Given the description of an element on the screen output the (x, y) to click on. 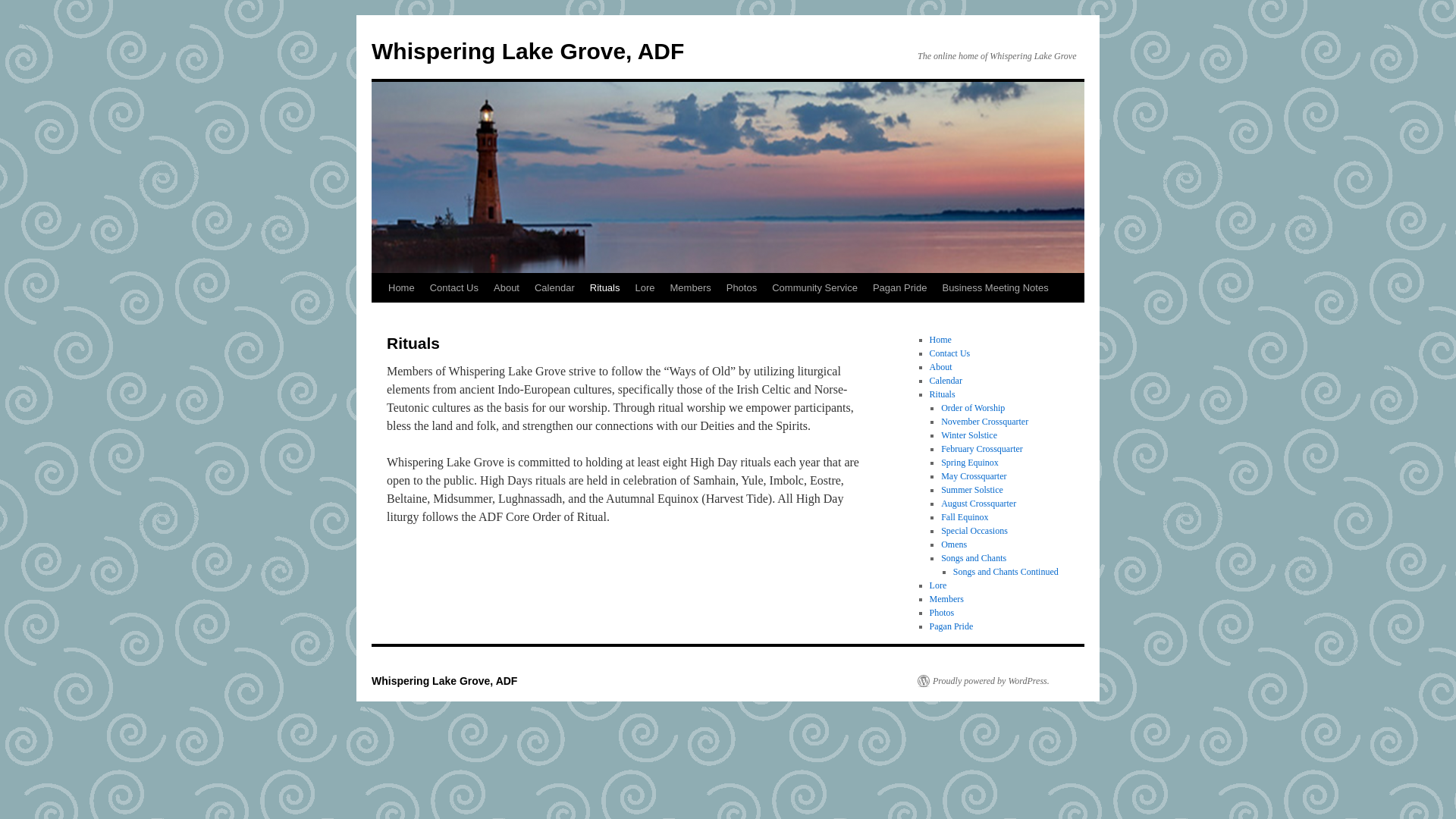
Skip to content (378, 315)
Order of Worship (972, 407)
Calendar (554, 287)
Spring Equinox (969, 462)
May Crossquarter (973, 475)
Contact Us (950, 353)
About (941, 366)
Songs and Chants (973, 557)
Business Meeting Notes (994, 287)
Community Service (814, 287)
Lore (644, 287)
August Crossquarter (978, 502)
Members (690, 287)
November Crossquarter (983, 421)
Home (941, 339)
